Given the description of an element on the screen output the (x, y) to click on. 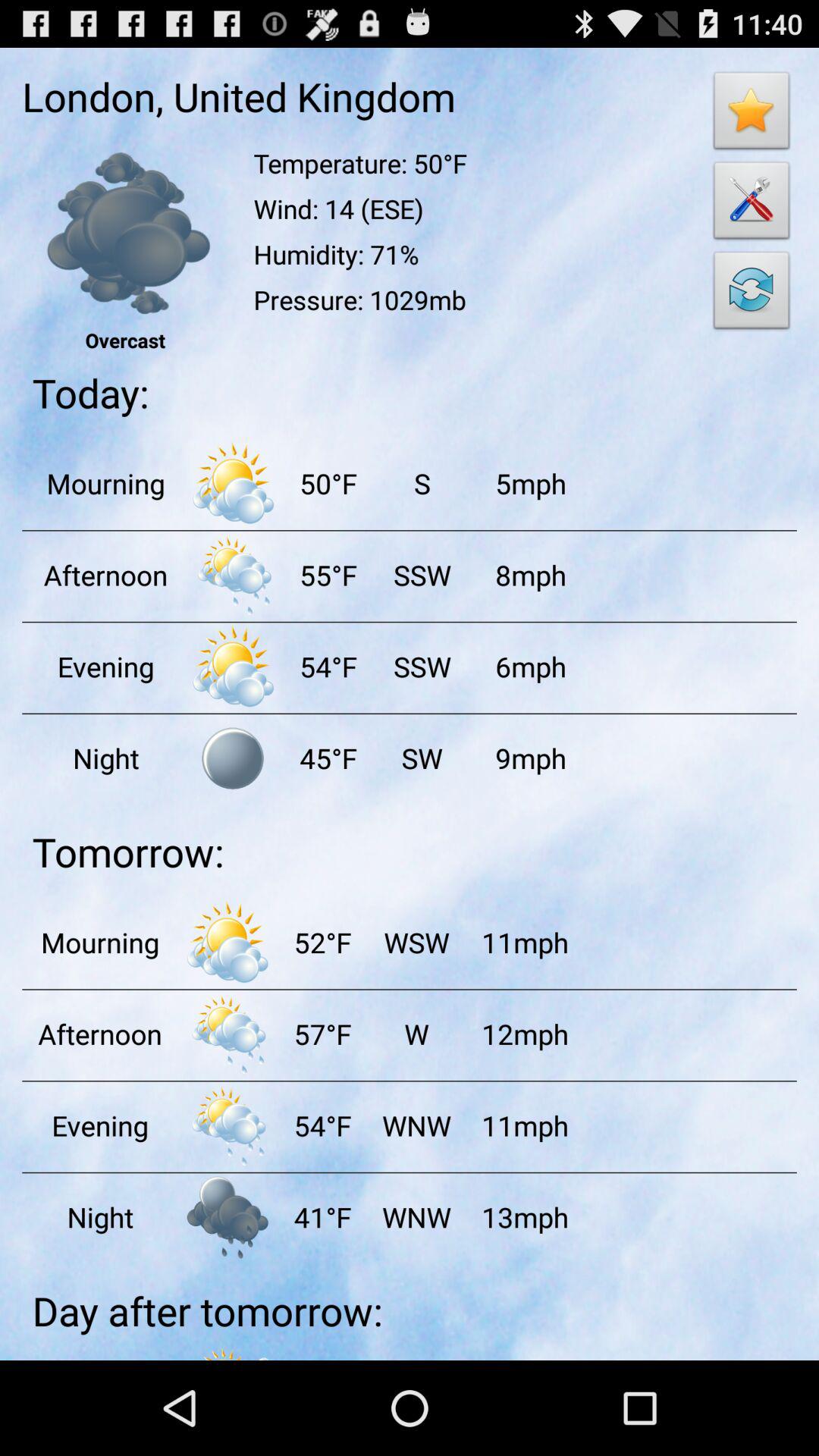
choose the item next to the wind: 14 (ese) (751, 294)
